Given the description of an element on the screen output the (x, y) to click on. 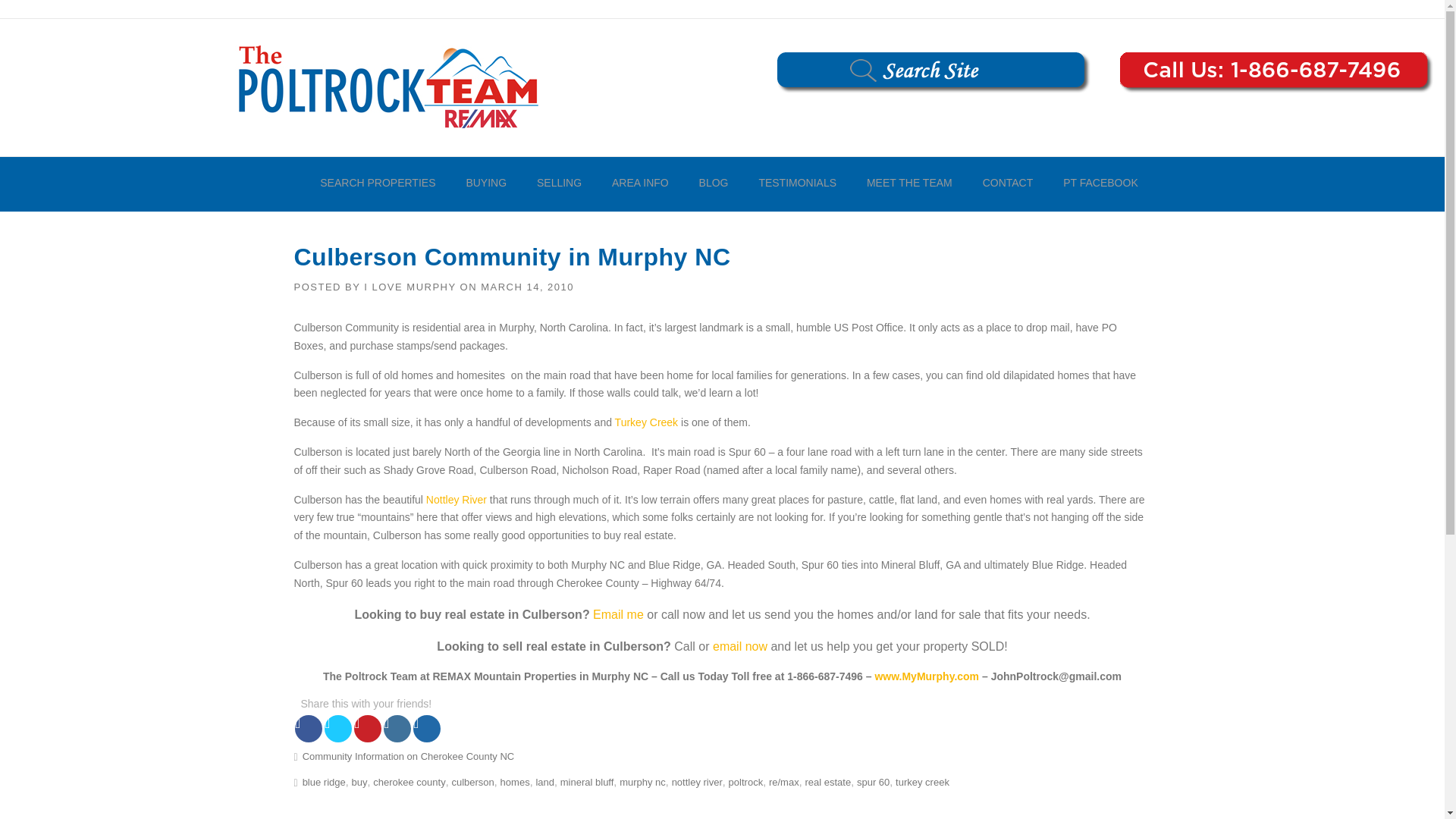
BUYING (485, 184)
Turkey Creek Development with Nottley River Front and Access (646, 422)
Information on the Nottley River in Murphy NC (456, 499)
Share on LinkedIn (397, 728)
Homes and Land for Sale in the Mountains of Murphy NC (926, 676)
Share on Digg (427, 728)
AREA INFO (640, 184)
Share on Twitter (338, 728)
SEARCH PROPERTIES (376, 184)
SELLING (558, 184)
Share on Facebook (308, 728)
Murphy NC Real Estate Search Remax (386, 86)
Share on Pinterest (367, 728)
